Given the description of an element on the screen output the (x, y) to click on. 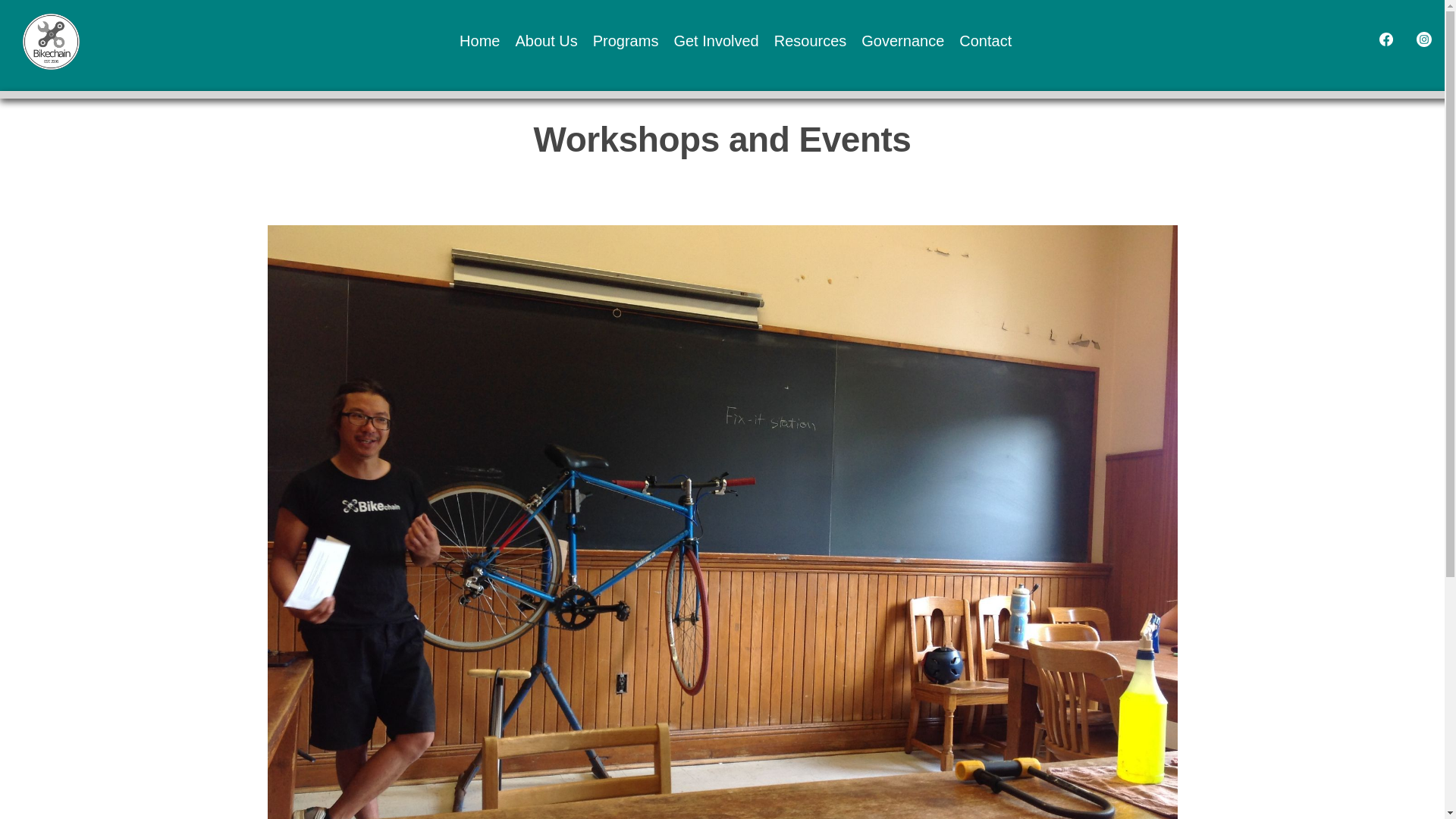
Get Involved Element type: text (715, 41)
Home Element type: text (479, 41)
Resources Element type: text (810, 41)
Instagram Element type: hover (1424, 41)
Governance Element type: text (902, 41)
Programs Element type: text (625, 41)
Facebook Element type: hover (1378, 41)
About Us Element type: text (545, 41)
Contact Element type: text (985, 41)
